Given the description of an element on the screen output the (x, y) to click on. 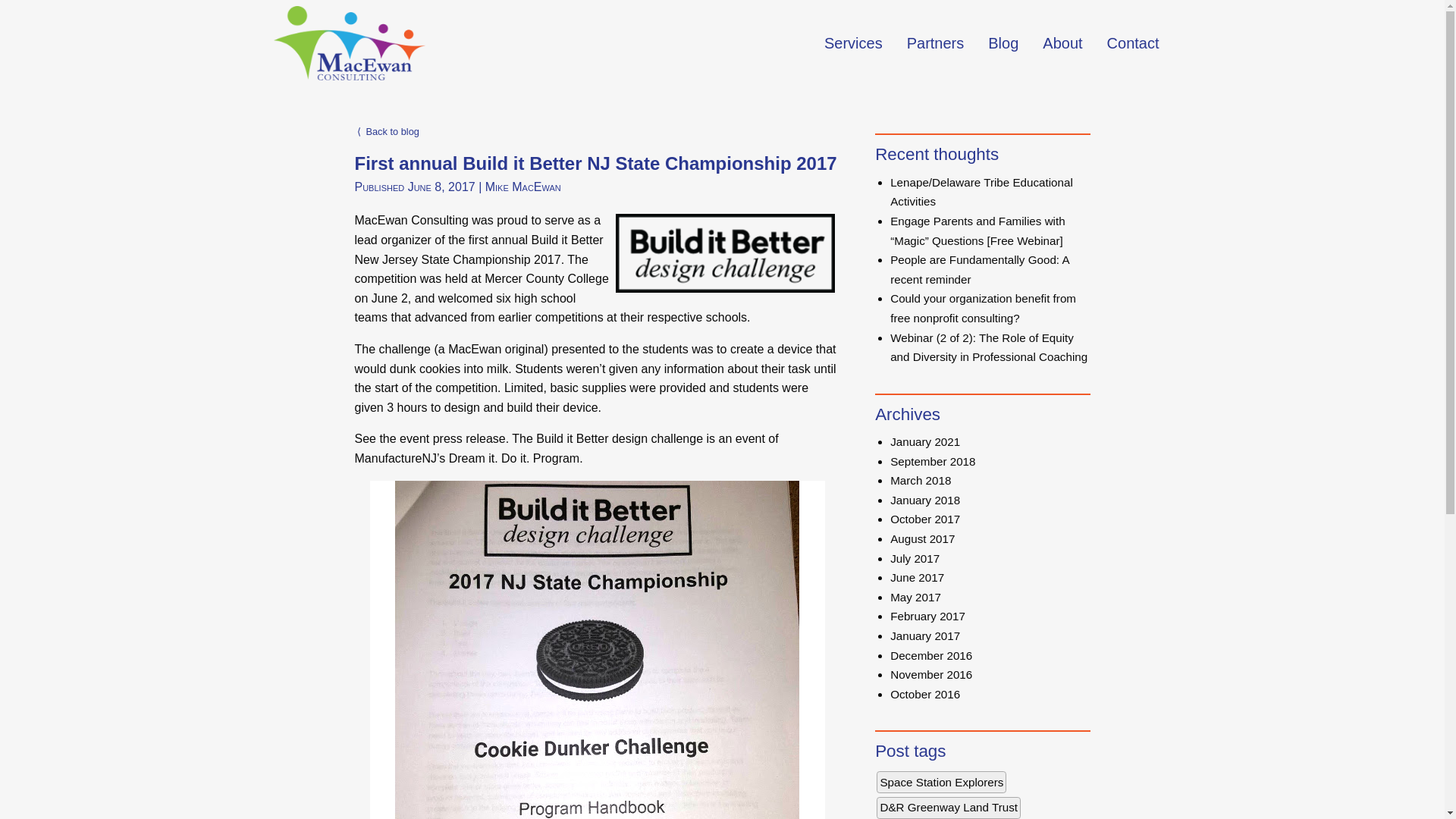
May 2017 (914, 596)
August 2017 (922, 538)
January 2018 (924, 499)
September 2018 (932, 461)
February 2017 (927, 615)
Contact (1133, 42)
About (1062, 42)
October 2017 (924, 518)
Partners (935, 42)
March 2018 (919, 480)
